Given the description of an element on the screen output the (x, y) to click on. 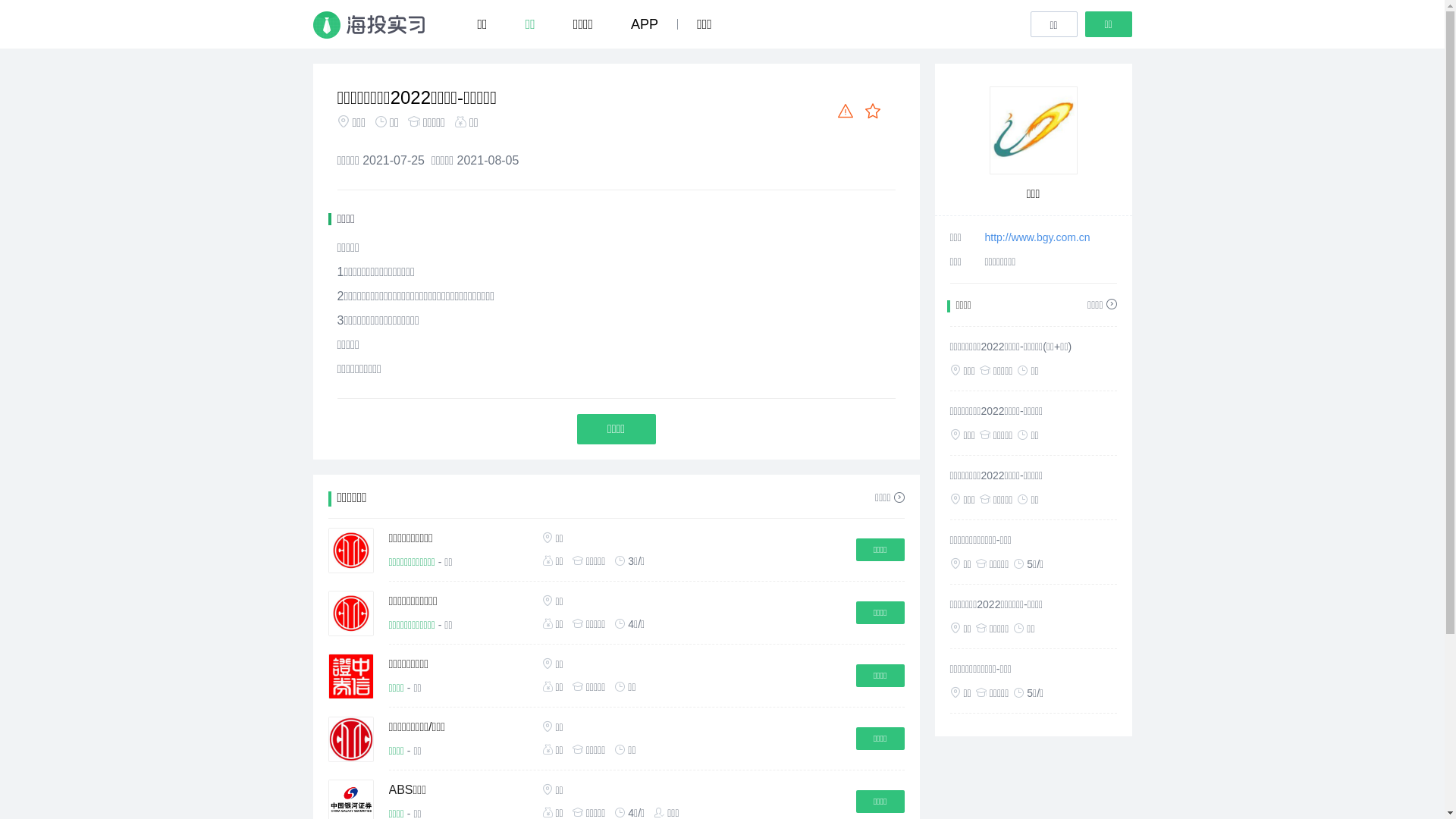
http://www.bgy.com.cn Element type: text (1036, 237)
APP Element type: text (653, 24)
